Given the description of an element on the screen output the (x, y) to click on. 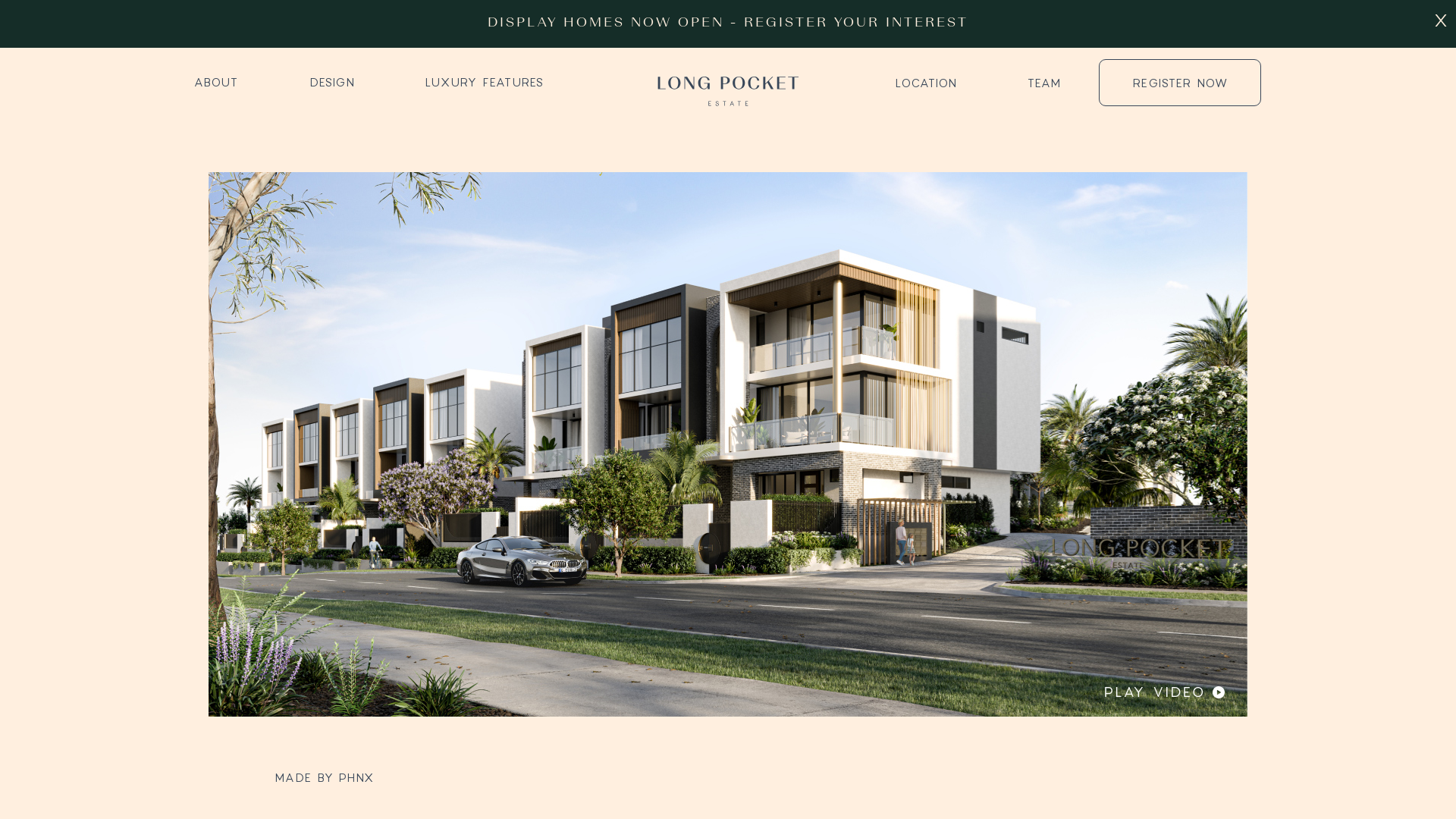
Long Pocket Element type: hover (727, 81)
DESIGN Element type: text (331, 81)
REGISTER NOW Element type: text (1179, 82)
PHNX Element type: text (355, 777)
TEAM Element type: text (1043, 82)
DISPLAY HOMES NOW OPEN - REGISTER YOUR INTEREST Element type: text (727, 21)
LOCATION Element type: text (925, 82)
ABOUT Element type: text (232, 81)
LUXURY FEATURES Element type: text (484, 81)
